Given the description of an element on the screen output the (x, y) to click on. 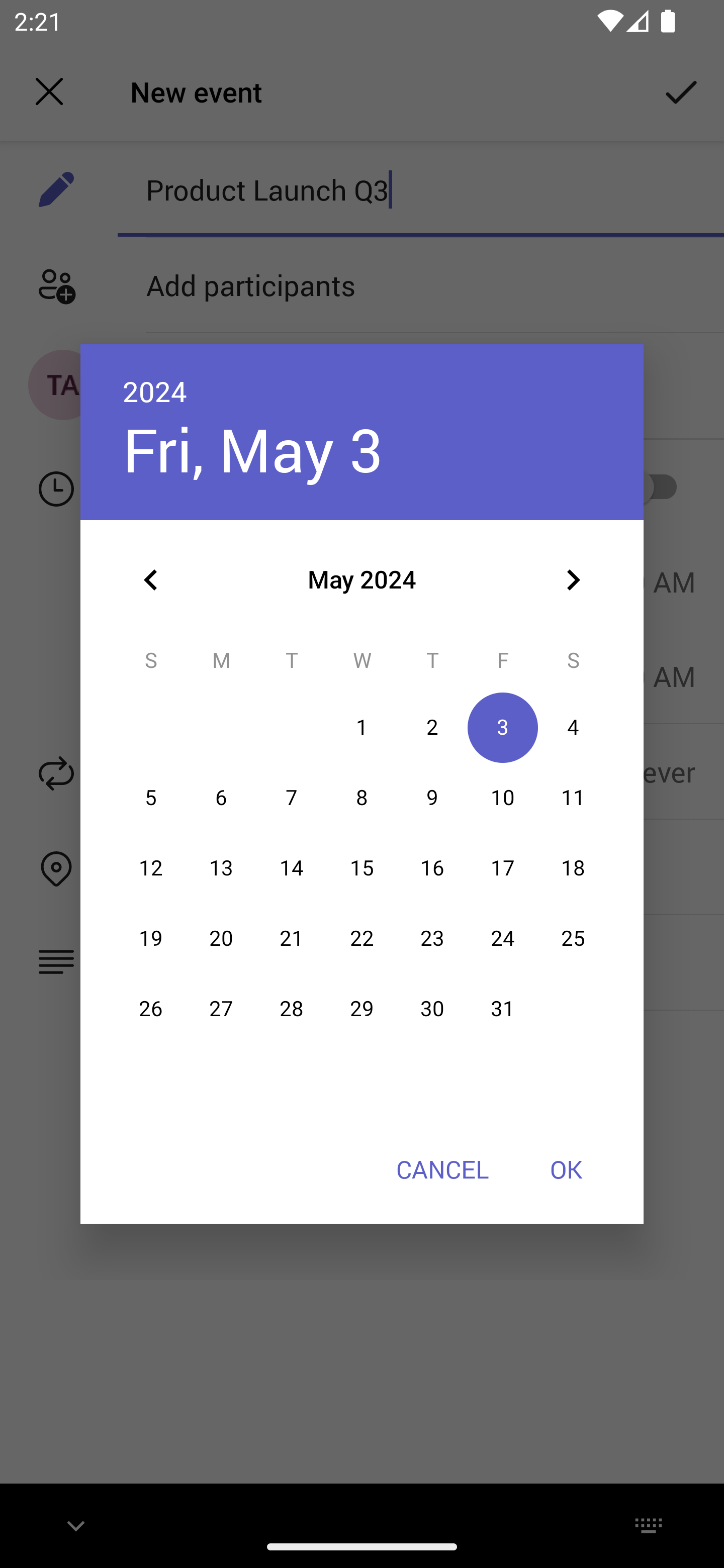
2024 (154, 391)
Fri, May 3 (252, 449)
Previous month (150, 579)
Next month (572, 579)
1 01 May 2024 (361, 728)
2 02 May 2024 (432, 728)
3 03 May 2024 (502, 728)
4 04 May 2024 (572, 728)
5 05 May 2024 (150, 797)
6 06 May 2024 (221, 797)
7 07 May 2024 (291, 797)
8 08 May 2024 (361, 797)
9 09 May 2024 (432, 797)
10 10 May 2024 (502, 797)
11 11 May 2024 (572, 797)
12 12 May 2024 (150, 867)
13 13 May 2024 (221, 867)
14 14 May 2024 (291, 867)
15 15 May 2024 (361, 867)
16 16 May 2024 (432, 867)
17 17 May 2024 (502, 867)
18 18 May 2024 (572, 867)
19 19 May 2024 (150, 938)
20 20 May 2024 (221, 938)
21 21 May 2024 (291, 938)
22 22 May 2024 (361, 938)
23 23 May 2024 (432, 938)
24 24 May 2024 (502, 938)
25 25 May 2024 (572, 938)
26 26 May 2024 (150, 1008)
27 27 May 2024 (221, 1008)
28 28 May 2024 (291, 1008)
29 29 May 2024 (361, 1008)
30 30 May 2024 (432, 1008)
31 31 May 2024 (502, 1008)
CANCEL (442, 1168)
OK (565, 1168)
